Given the description of an element on the screen output the (x, y) to click on. 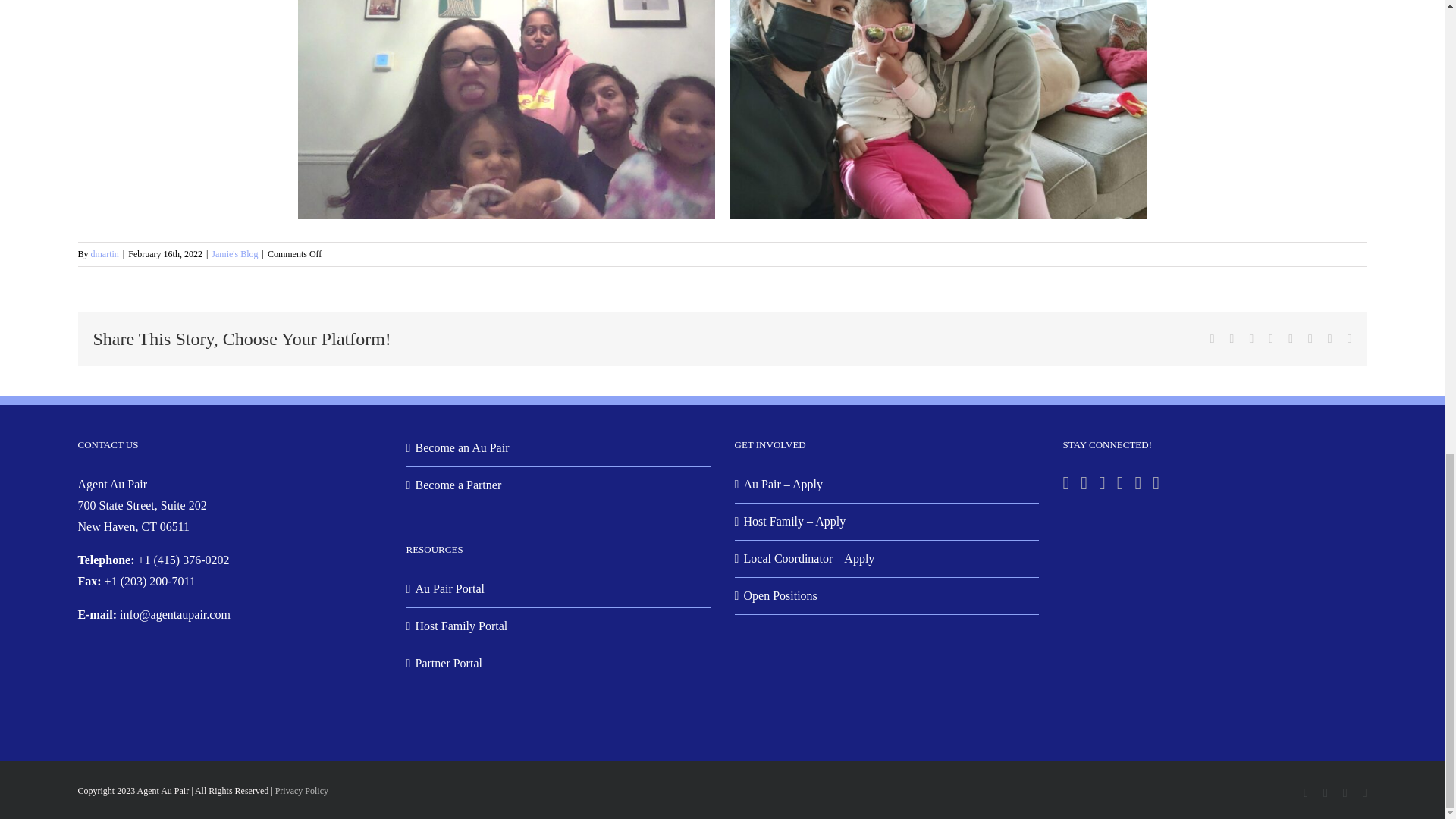
Posts by dmartin (104, 253)
